Given the description of an element on the screen output the (x, y) to click on. 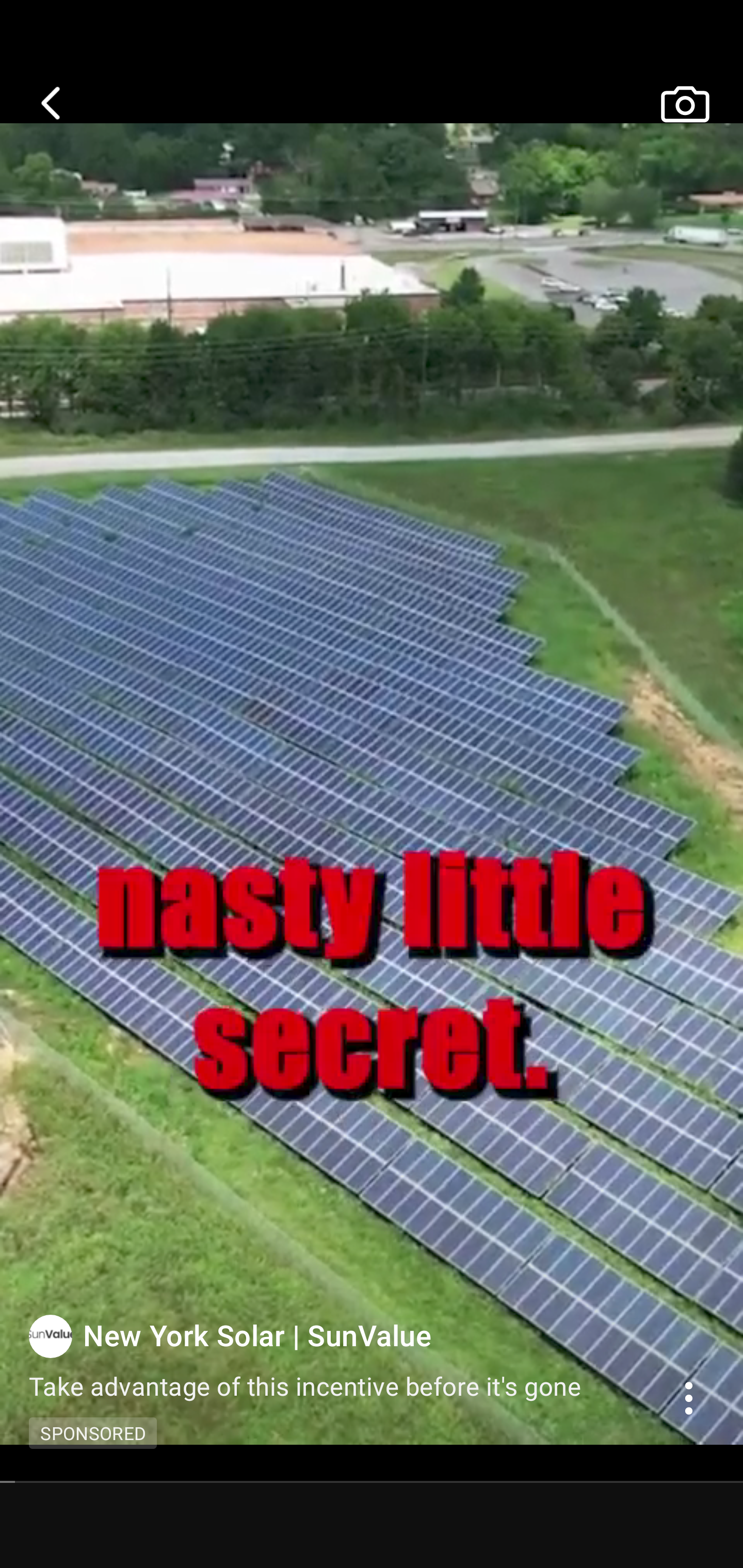
New York Solar | SunValue (344, 1334)
Take advantage of this incentive before it's gone (316, 1385)
